Given the description of an element on the screen output the (x, y) to click on. 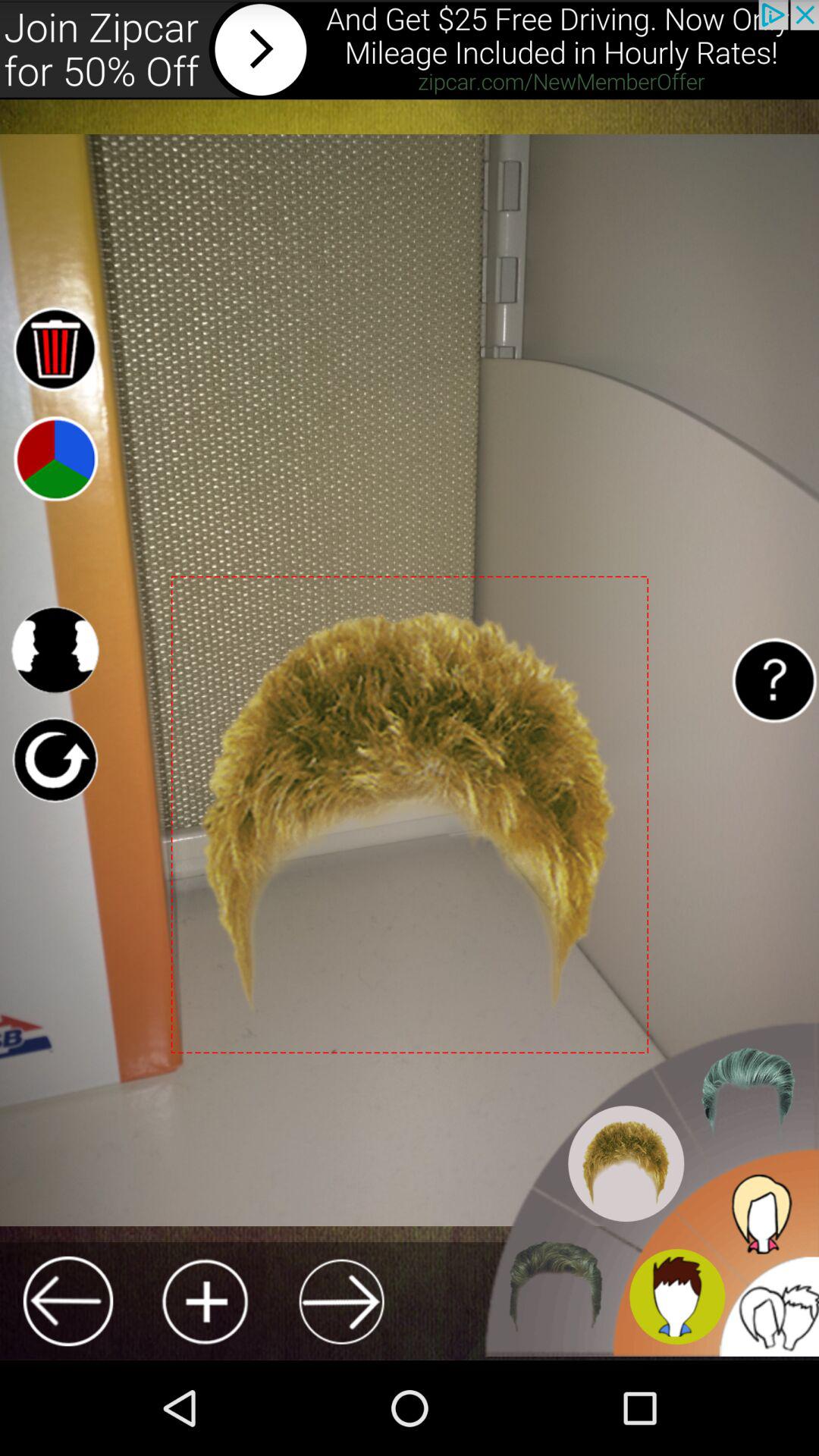
delete option (55, 348)
